Given the description of an element on the screen output the (x, y) to click on. 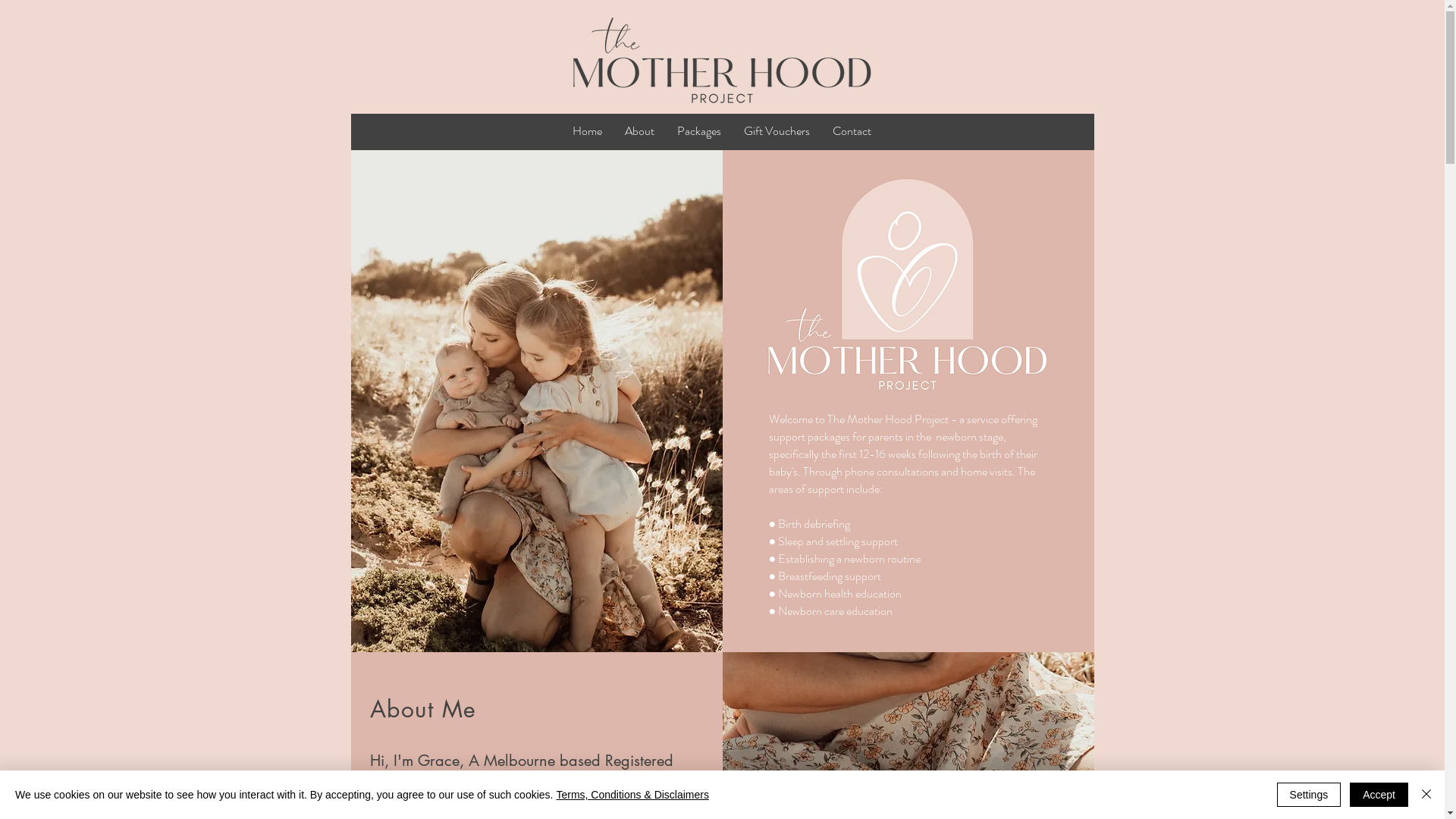
Settings Element type: text (1309, 794)
Accept Element type: text (1378, 794)
Gift Vouchers Element type: text (776, 131)
Home Element type: text (587, 131)
Contact Element type: text (851, 131)
Terms, Conditions & Disclaimers Element type: text (632, 794)
About Element type: text (639, 131)
Packages Element type: text (698, 131)
